Given the description of an element on the screen output the (x, y) to click on. 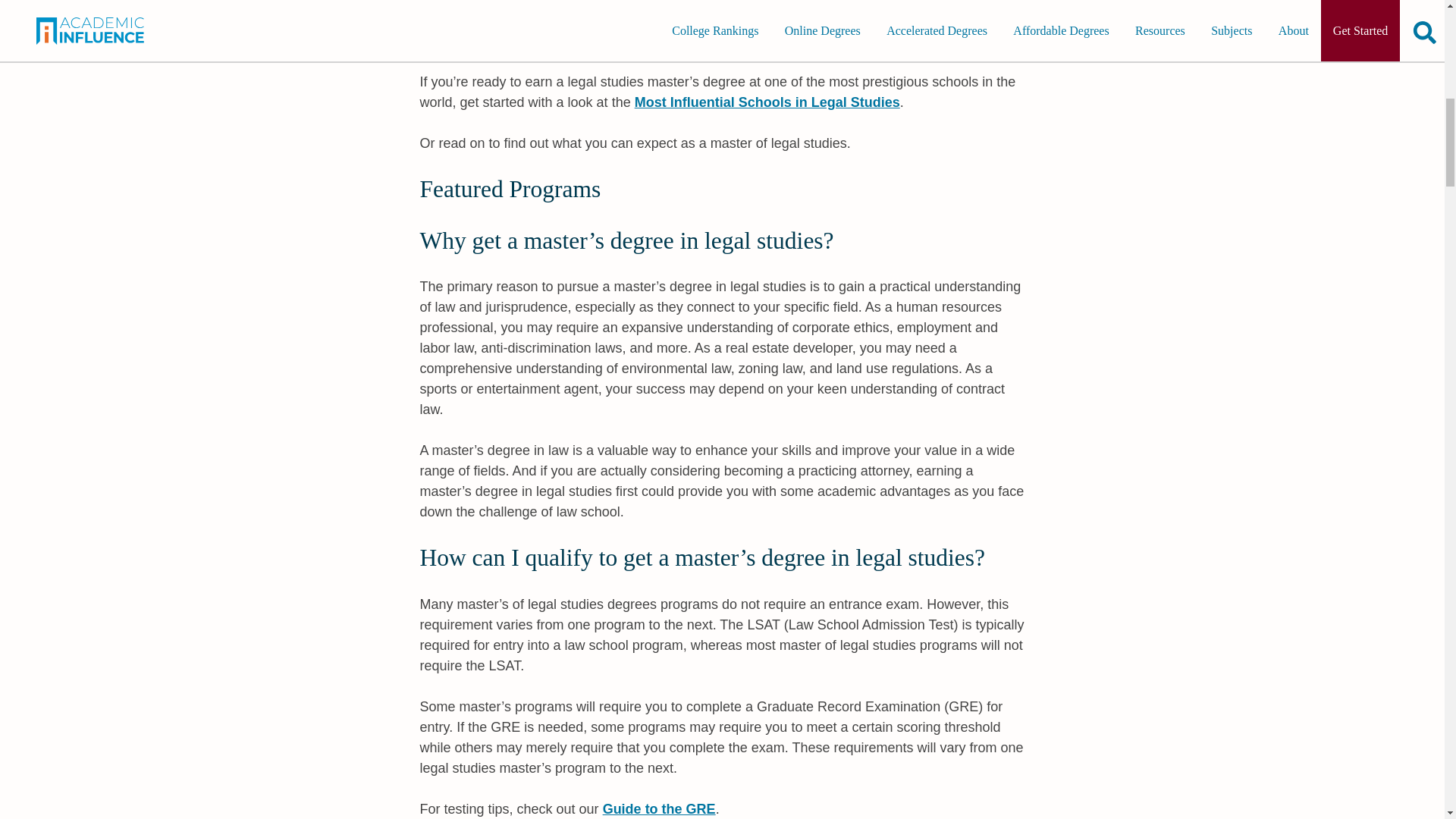
Guide to the GRE (659, 808)
undergraduate degree in criminal justice (702, 30)
Most Influential Schools in Legal Studies (766, 102)
